Given the description of an element on the screen output the (x, y) to click on. 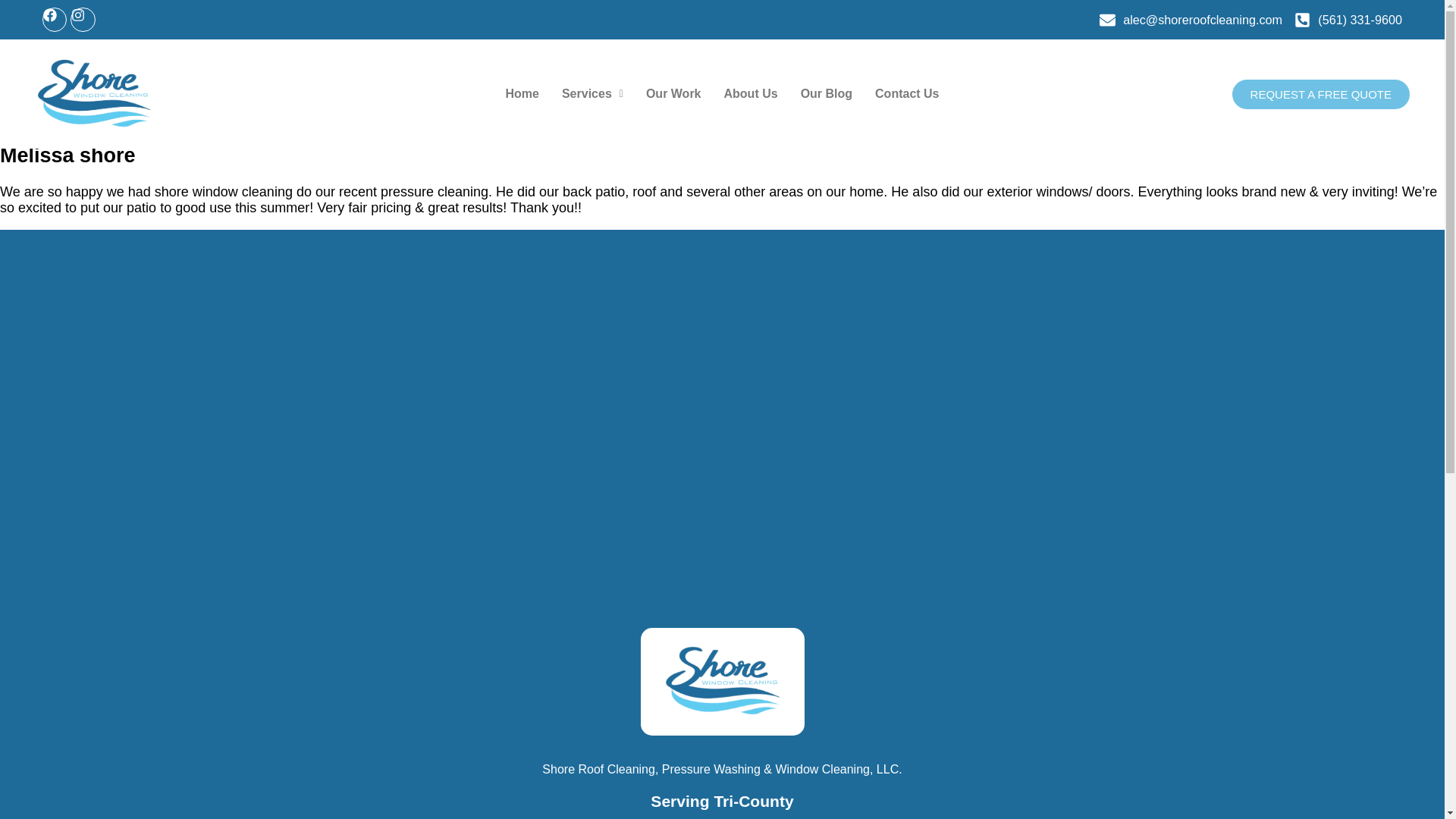
Our Work (673, 93)
REQUEST A FREE QUOTE (1320, 93)
Home (521, 93)
Services (592, 93)
Home (18, 102)
Contact Us (906, 93)
About Us (751, 93)
Our Blog (826, 93)
